Given the description of an element on the screen output the (x, y) to click on. 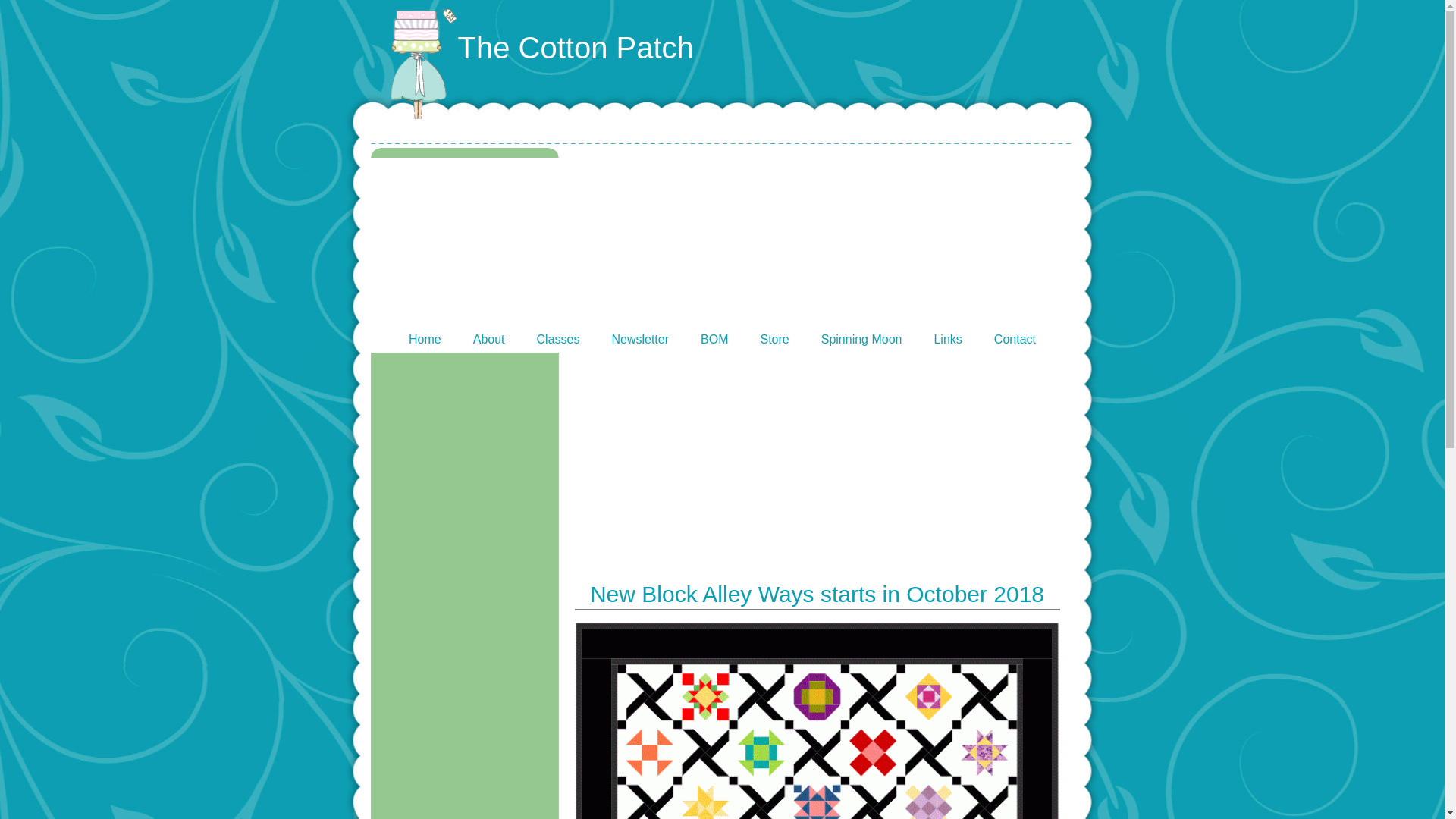
Advertisement (817, 458)
Contact (1014, 338)
BOM (714, 338)
Newsletter (639, 338)
About (489, 338)
Store (774, 338)
Spinning Moon (861, 338)
Links (946, 338)
Home (425, 338)
Classes (558, 338)
